Given the description of an element on the screen output the (x, y) to click on. 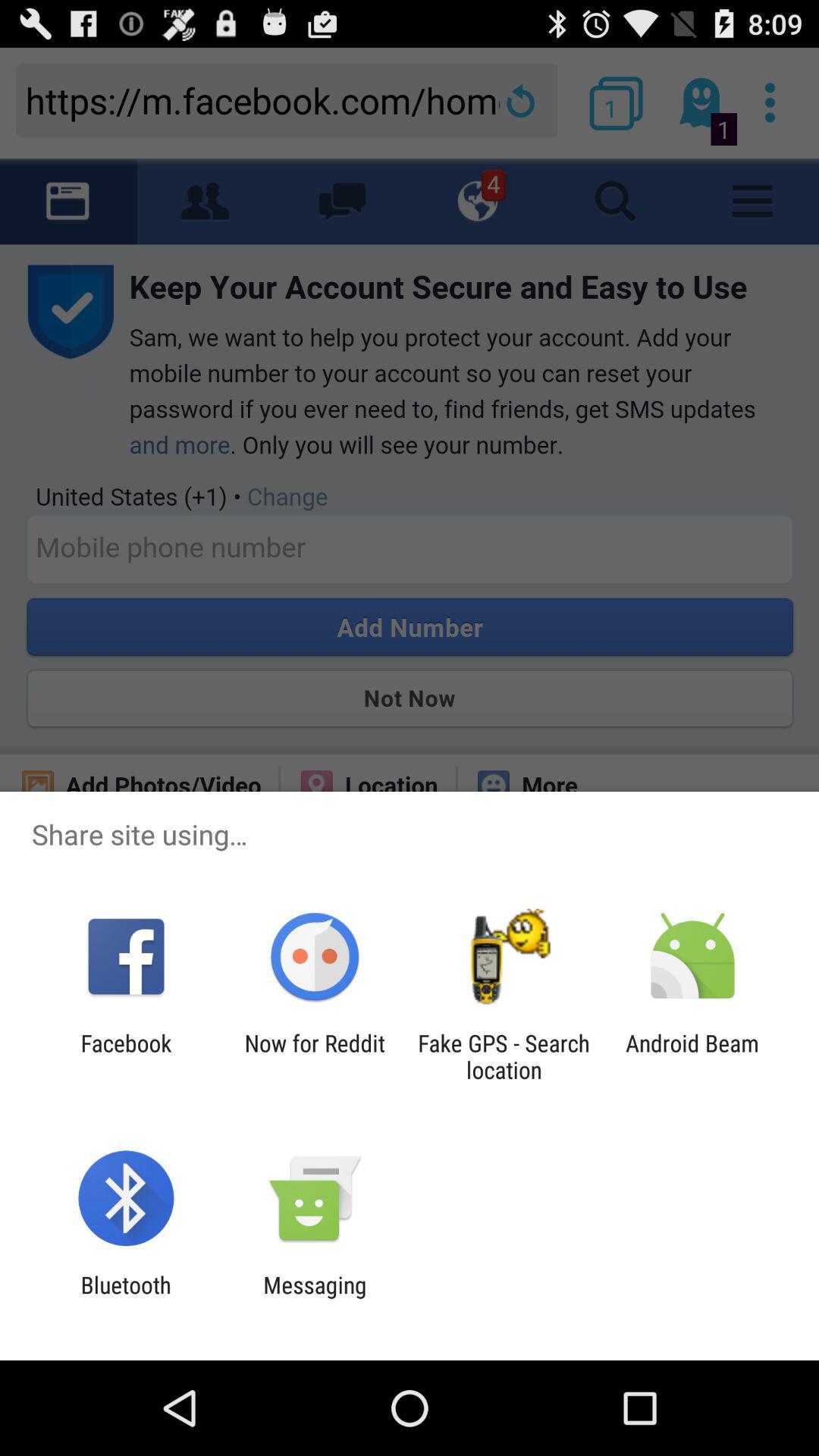
launch the app next to now for reddit (125, 1056)
